Given the description of an element on the screen output the (x, y) to click on. 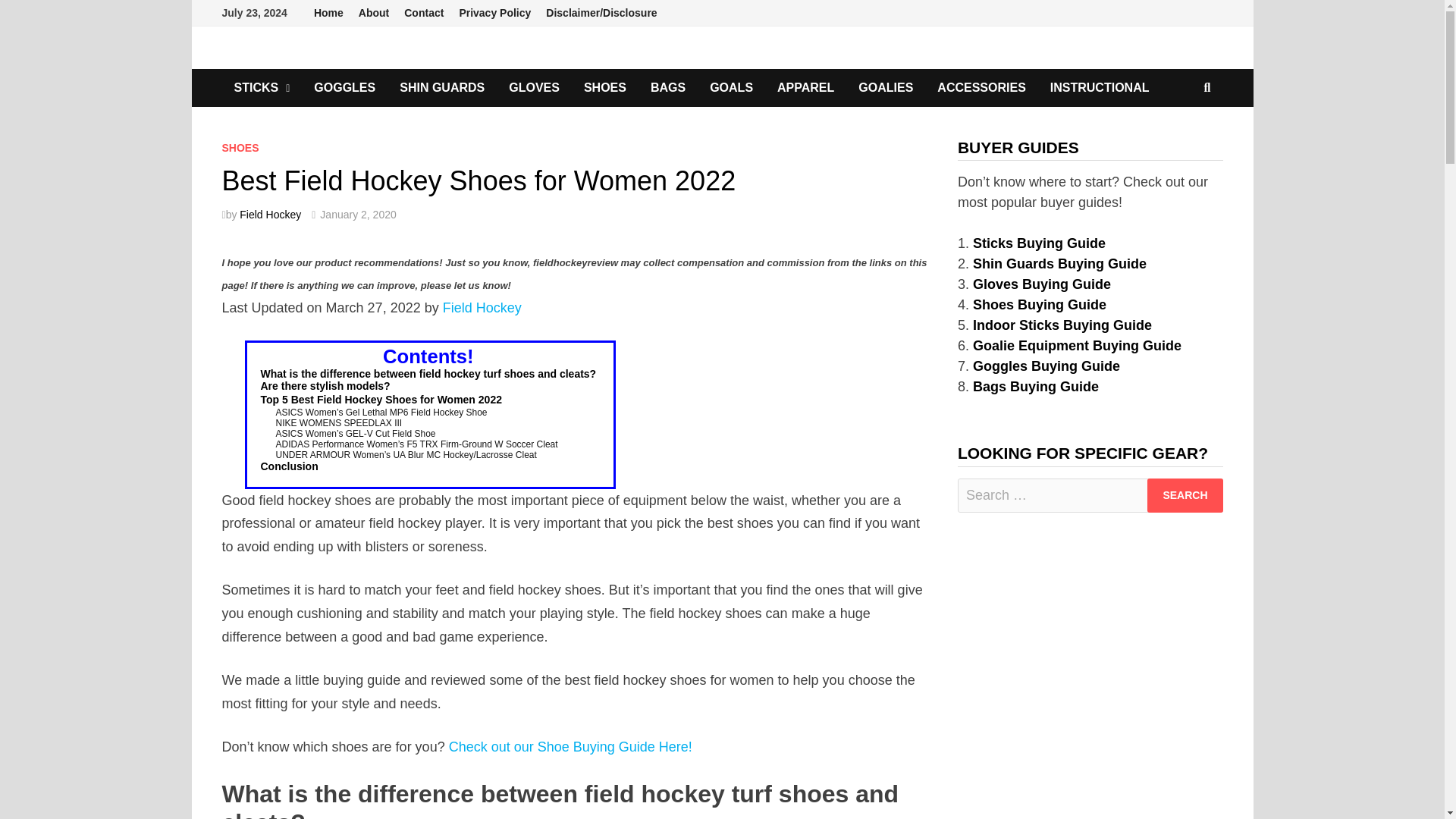
SHOES (605, 87)
About (373, 13)
Field Hockey (270, 214)
GOGGLES (344, 87)
GLOVES (534, 87)
Search (1185, 495)
BAGS (668, 87)
STICKS (261, 87)
Privacy Policy (494, 13)
Home (327, 13)
GOALIES (884, 87)
Search (1185, 495)
APPAREL (805, 87)
INSTRUCTIONAL (1099, 87)
ACCESSORIES (980, 87)
